Given the description of an element on the screen output the (x, y) to click on. 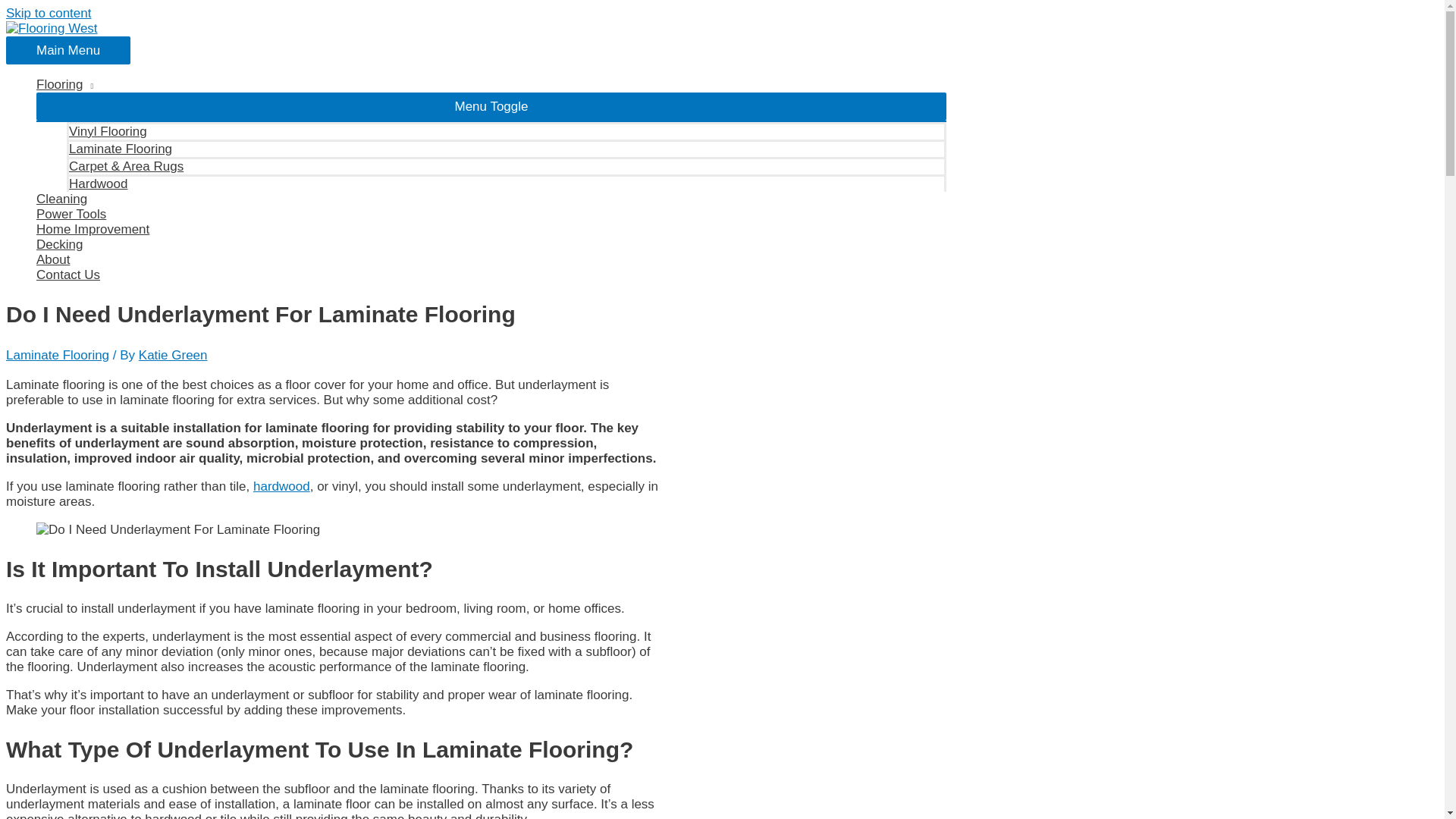
Laminate Flooring (506, 148)
Home Improvement (491, 229)
Hardwood (506, 182)
Skip to content (47, 12)
Katie Green (173, 355)
Cleaning (491, 199)
hardwood (281, 486)
Power Tools (491, 214)
Main Menu (68, 50)
Decking (491, 244)
